Given the description of an element on the screen output the (x, y) to click on. 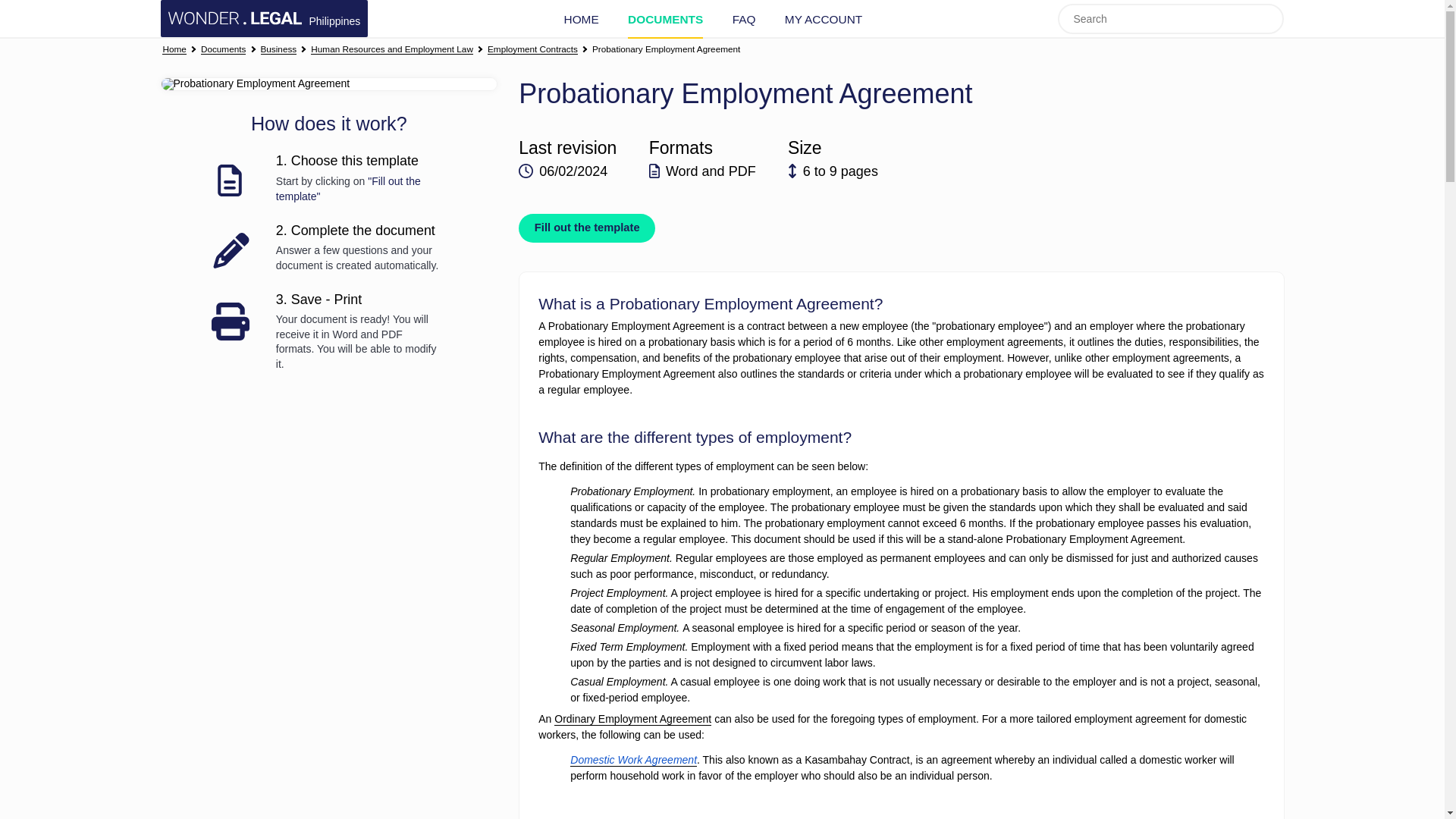
Search (1268, 18)
Search (1268, 18)
Documents (223, 49)
Philippines (264, 18)
HOME (581, 19)
Home (173, 49)
Business (278, 49)
Probationary Employment Agreement (665, 49)
Ordinary Employment Agreement (632, 718)
Human Resources and Employment Law (392, 49)
